Given the description of an element on the screen output the (x, y) to click on. 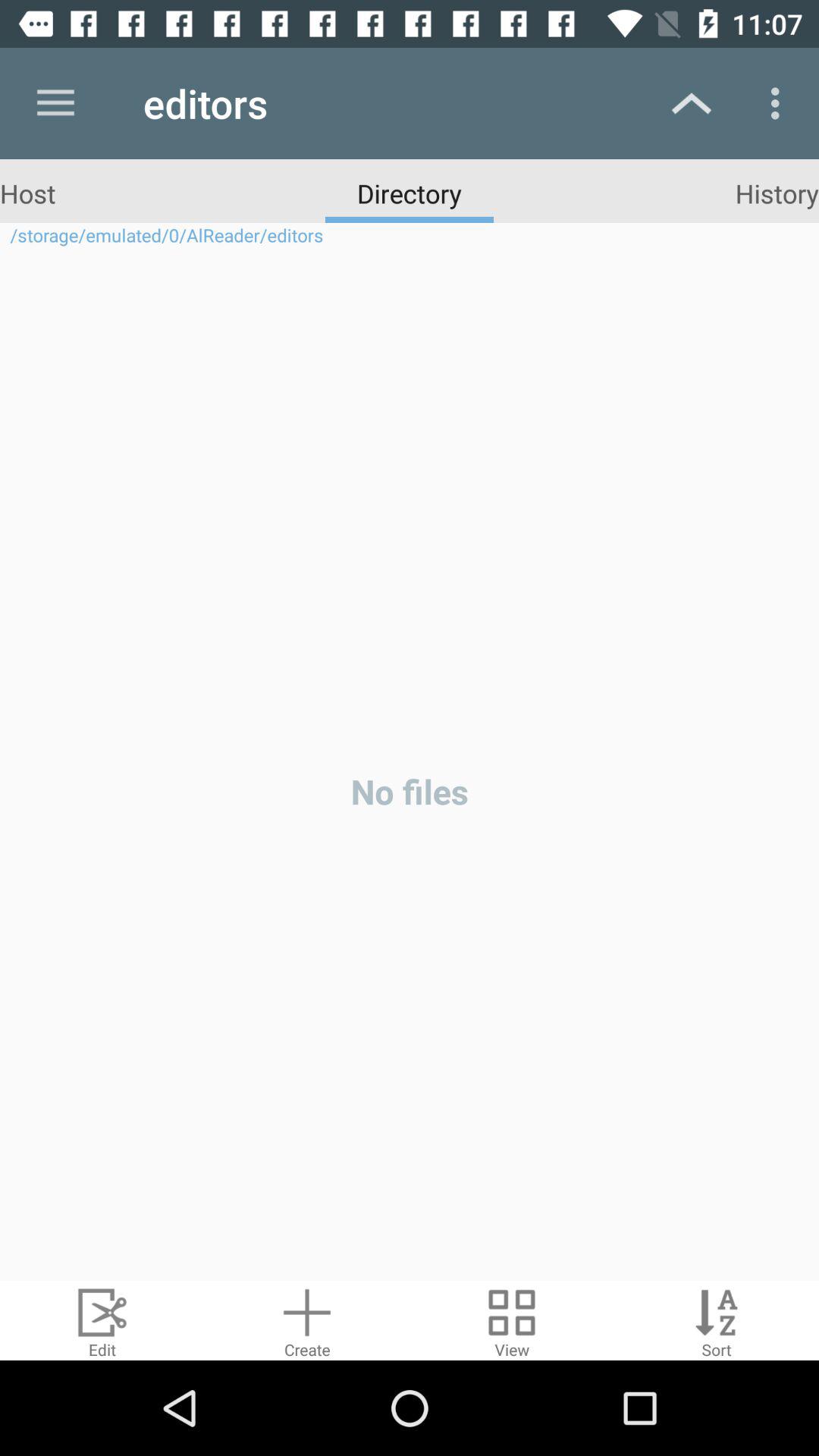
select item next to directory app (27, 193)
